Given the description of an element on the screen output the (x, y) to click on. 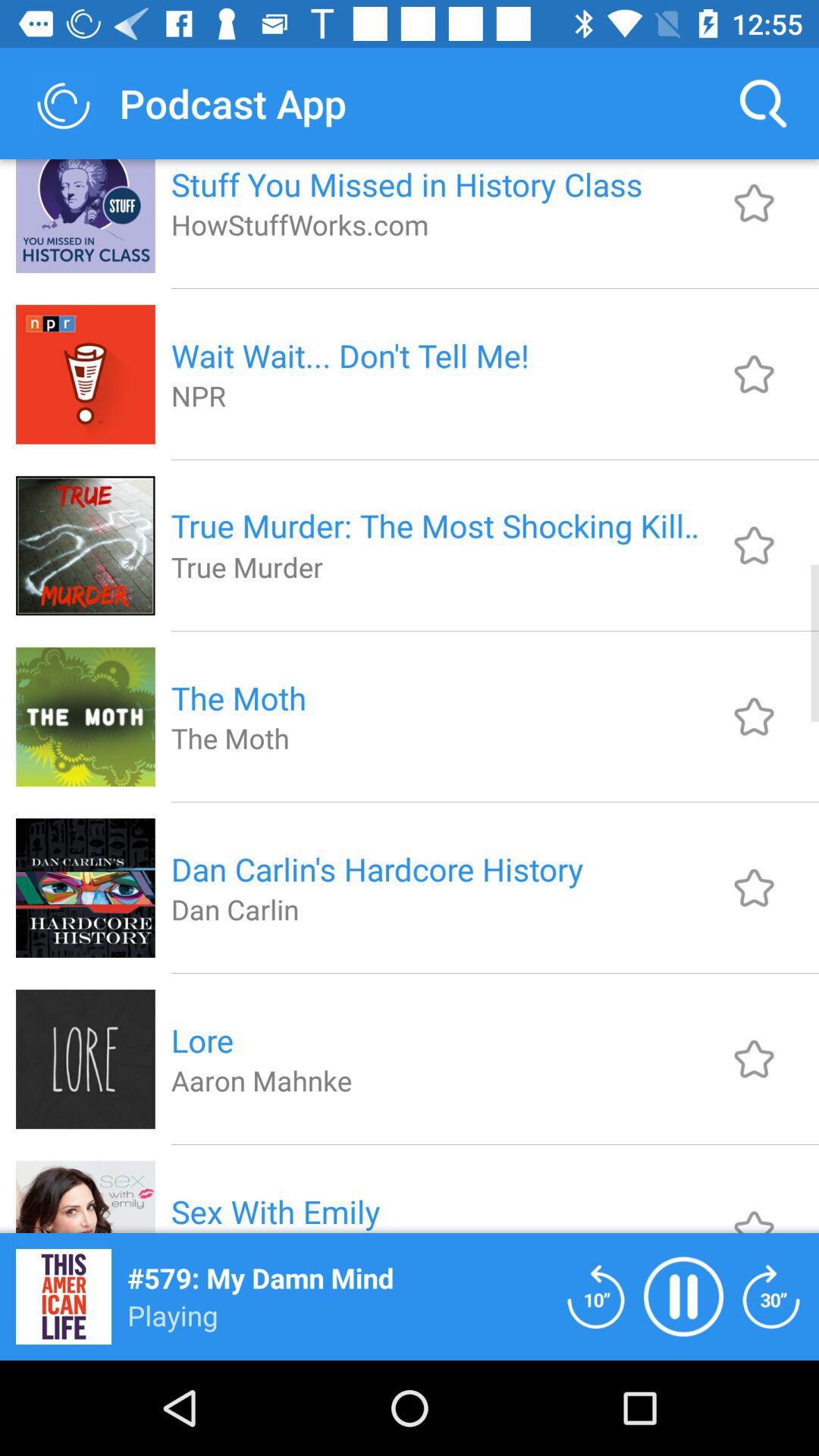
favorite a podcast (754, 545)
